Given the description of an element on the screen output the (x, y) to click on. 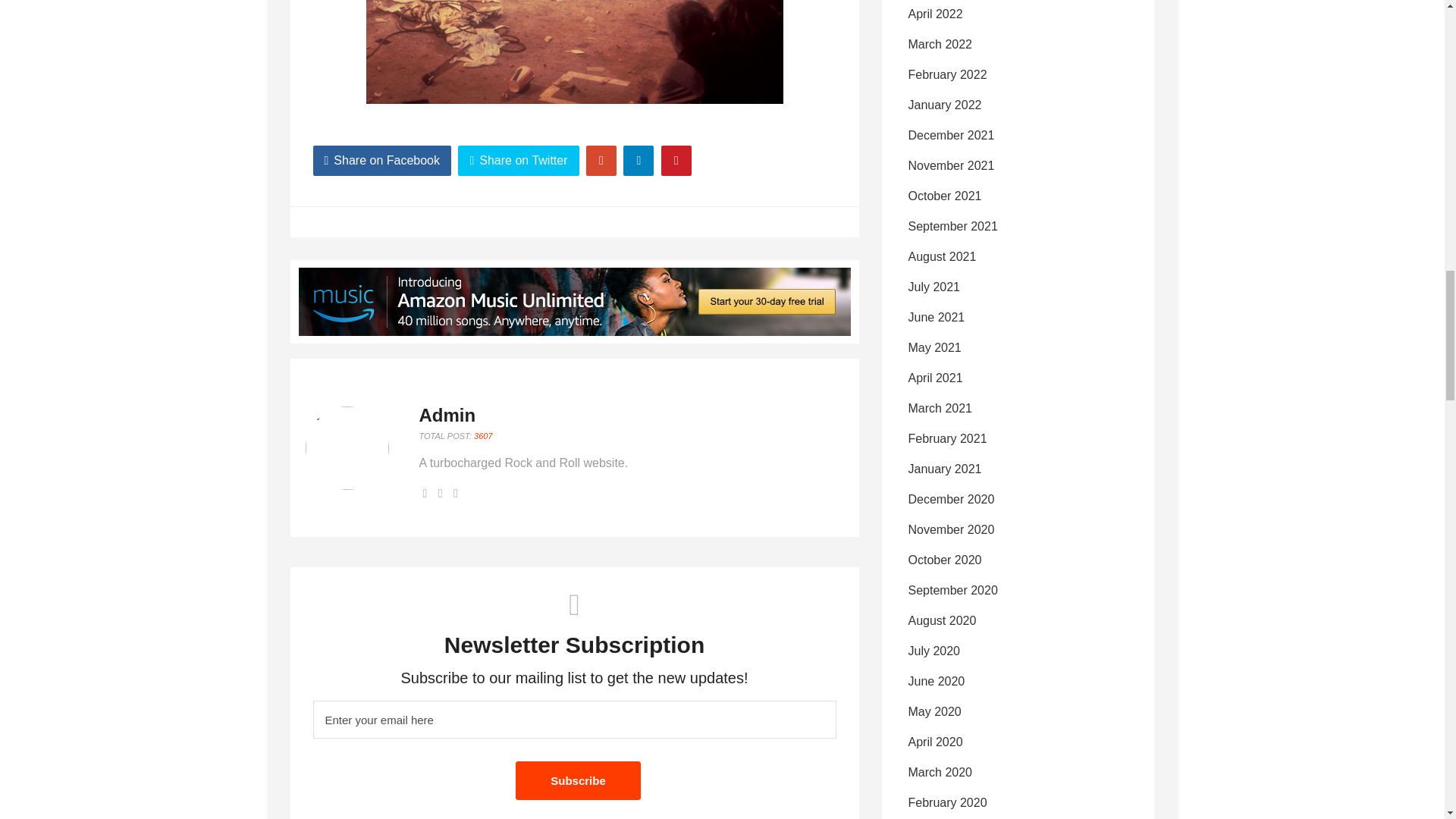
Share on Facebook! (382, 160)
Share on Twitter! (518, 160)
Subscribe (577, 780)
